Given the description of an element on the screen output the (x, y) to click on. 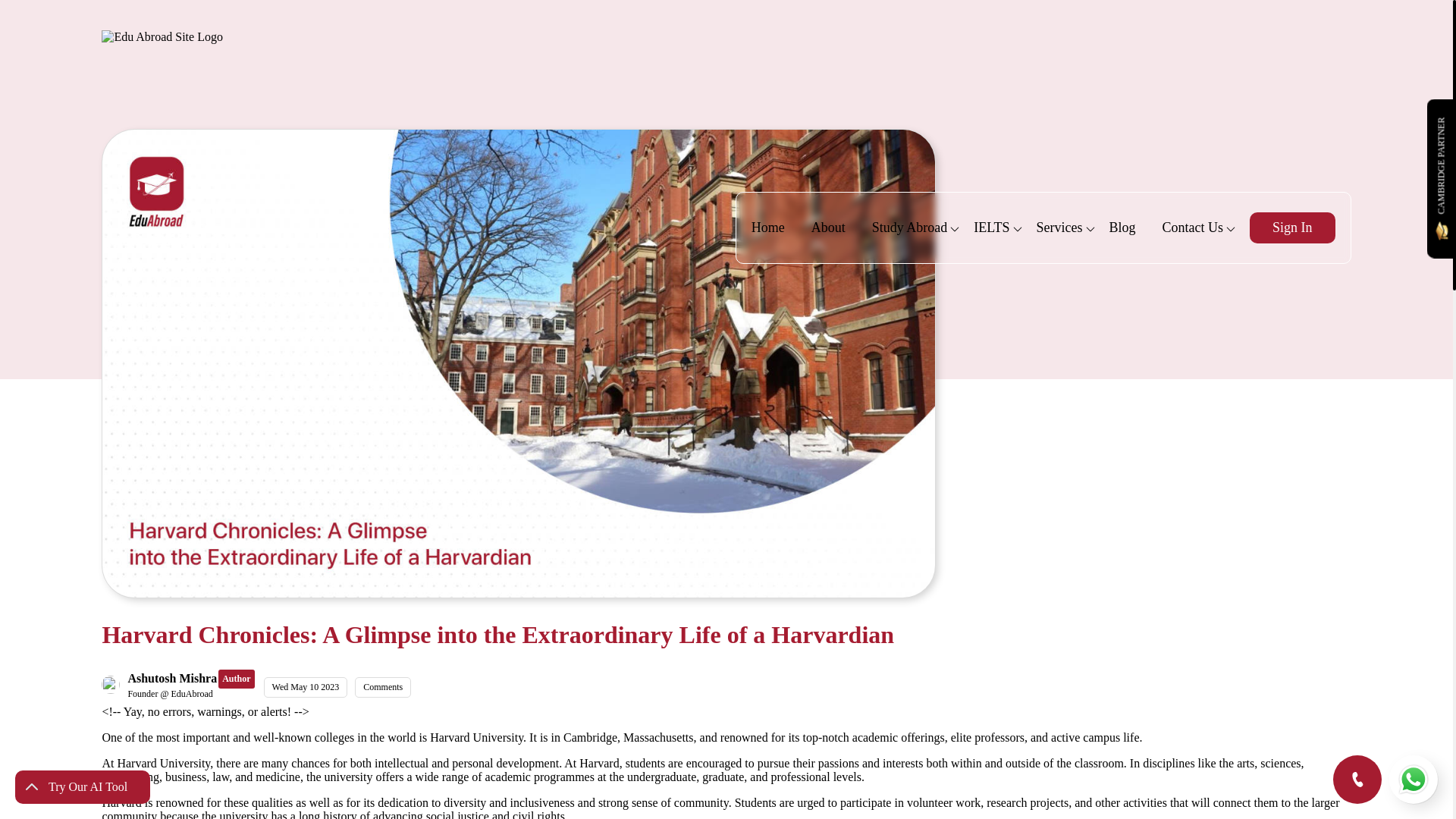
Home (767, 227)
IELTS (991, 227)
About (827, 227)
Study Abroad (909, 227)
Services (1059, 227)
Sign In (1292, 227)
Contact Us (1192, 227)
Blog (1122, 227)
